Given the description of an element on the screen output the (x, y) to click on. 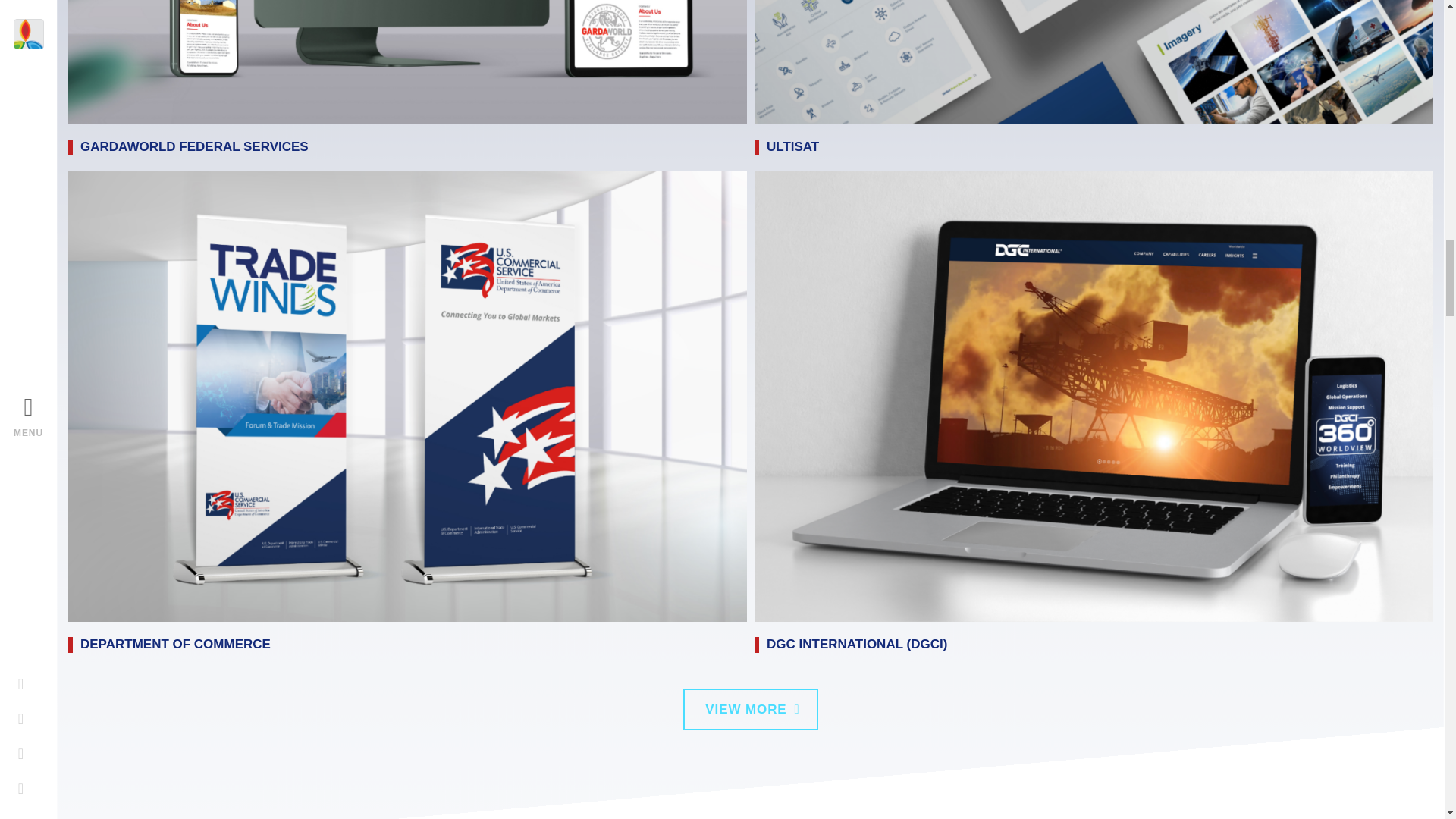
VIEW MORE (750, 709)
ULTISAT (792, 146)
DEPARTMENT OF COMMERCE (175, 644)
GARDAWORLD FEDERAL SERVICES (194, 146)
